Given the description of an element on the screen output the (x, y) to click on. 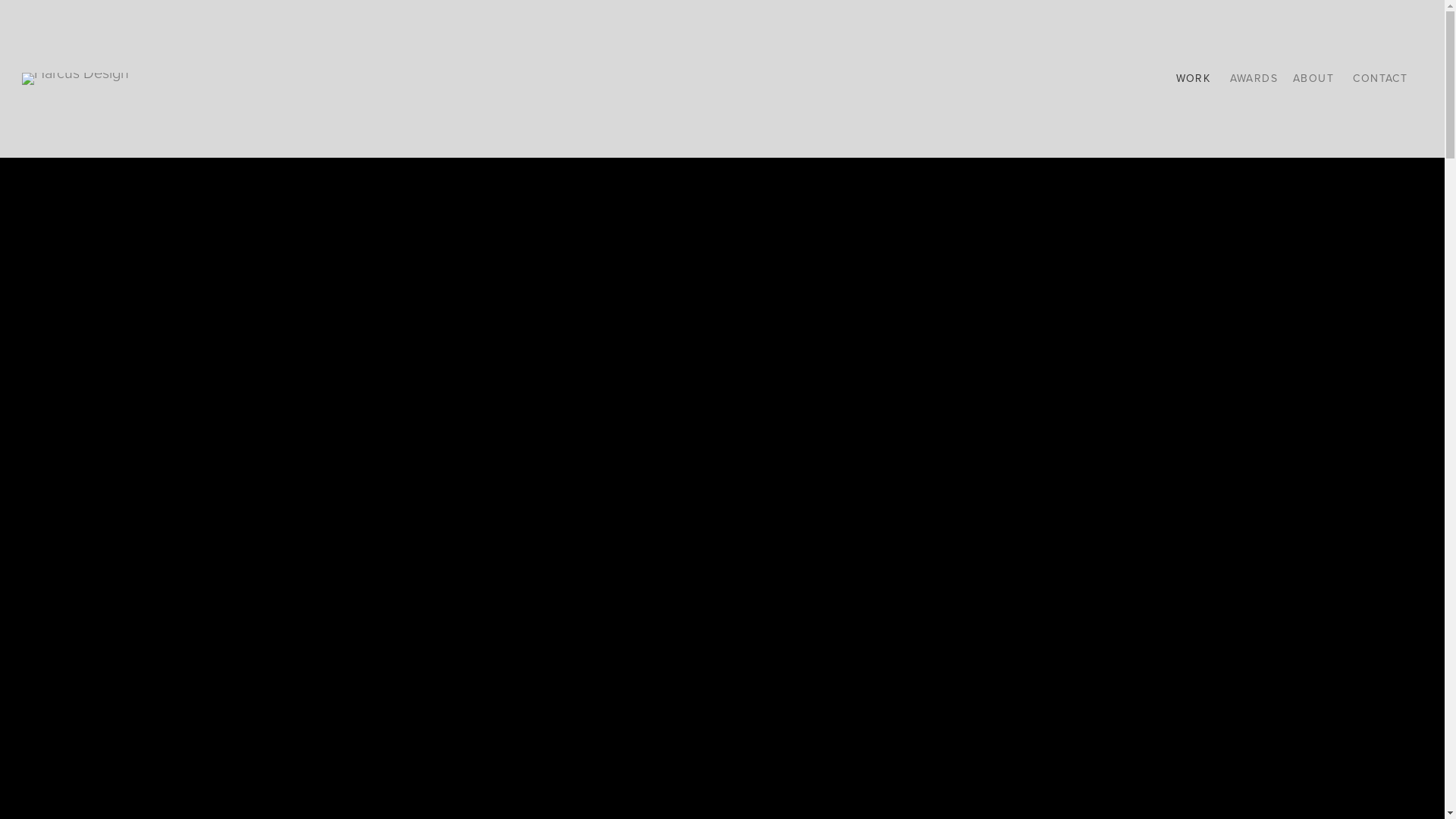
CONTACT Element type: text (1379, 78)
WORK Element type: text (1193, 78)
ABOUT Element type: text (1312, 78)
AWARDS Element type: text (1253, 78)
